Given the description of an element on the screen output the (x, y) to click on. 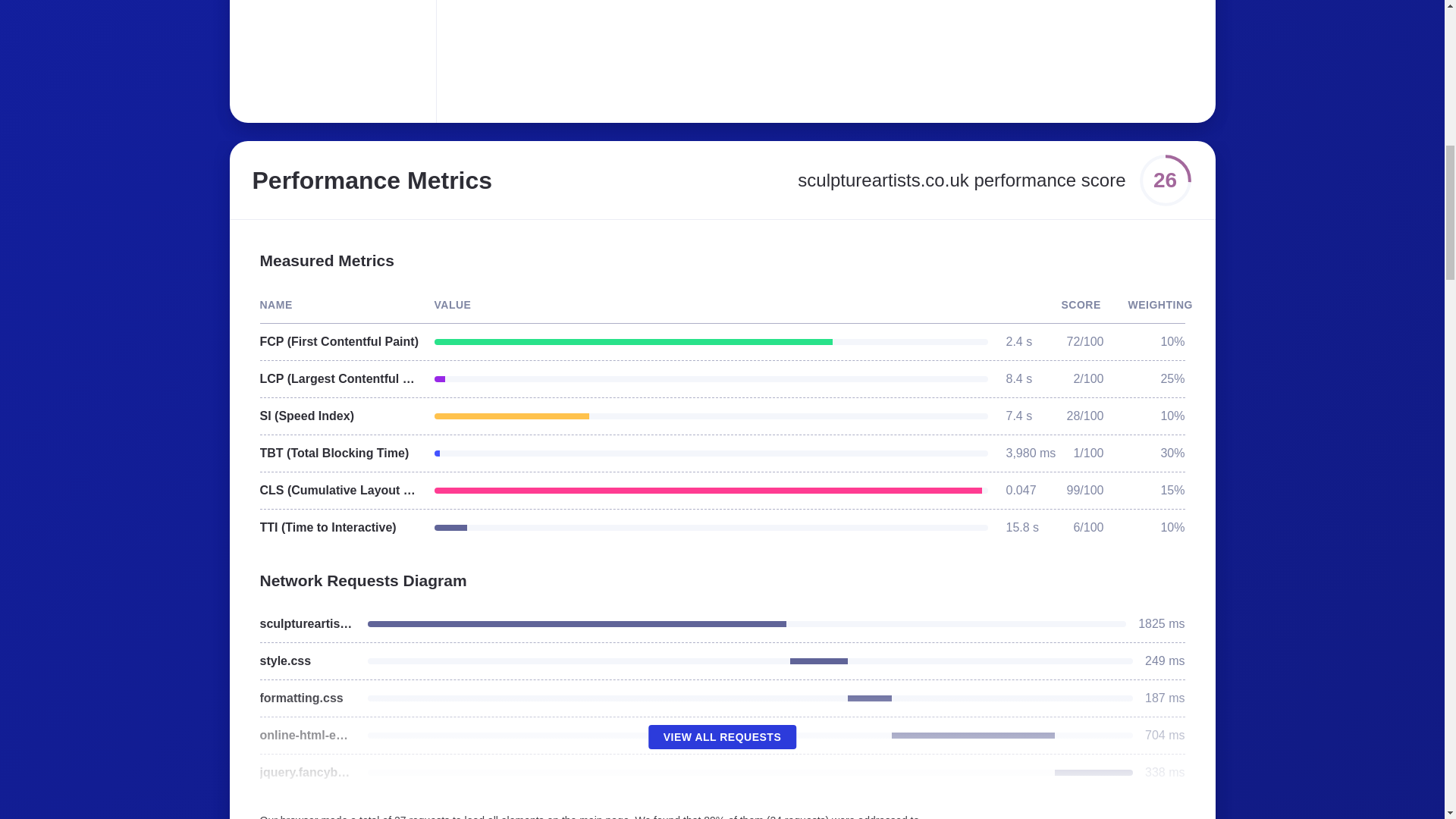
VIEW ALL REQUESTS (721, 736)
